Given the description of an element on the screen output the (x, y) to click on. 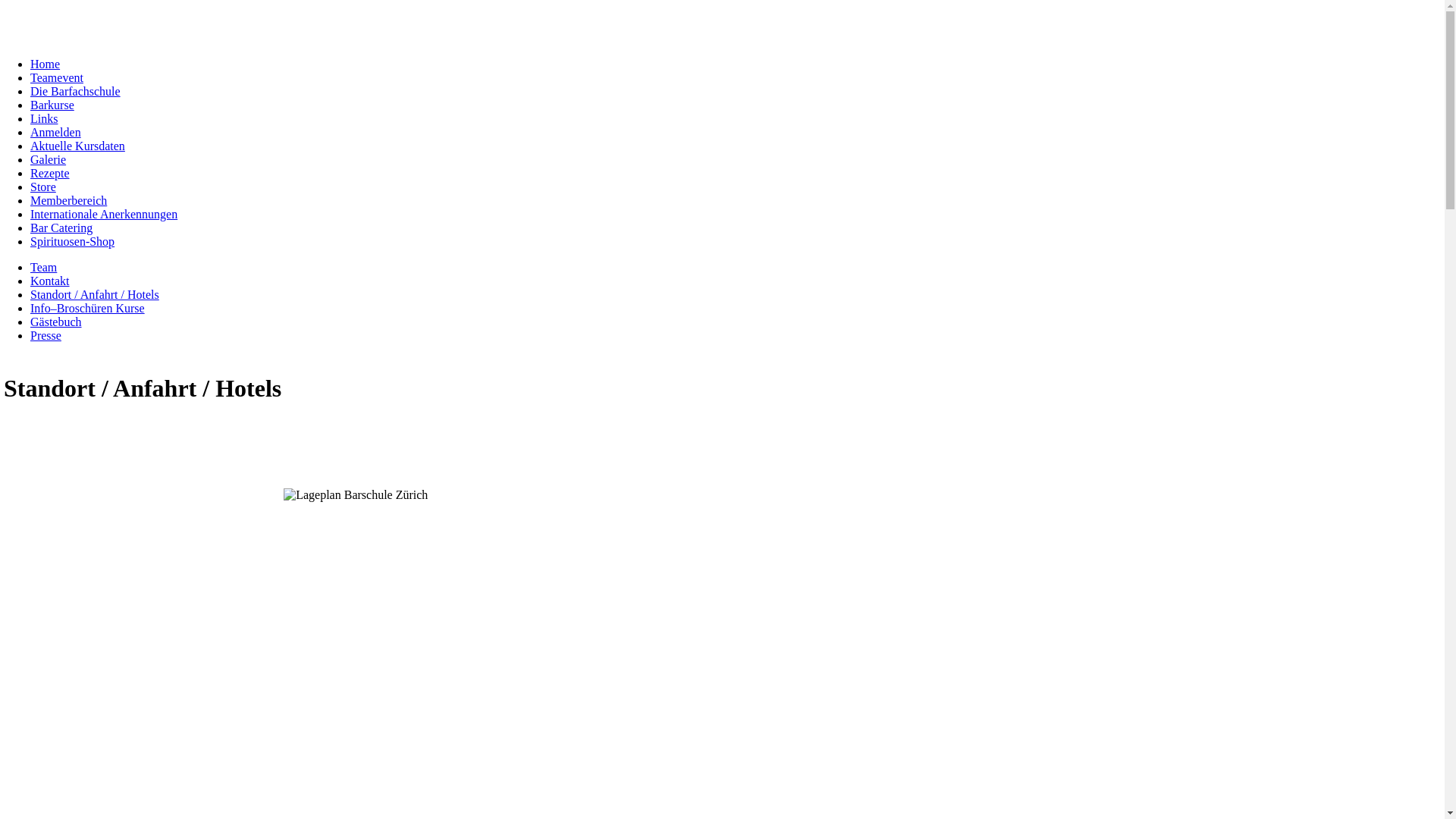
Home Element type: text (44, 63)
Store Element type: text (43, 186)
Anmelden Element type: text (55, 131)
Bar Catering Element type: text (61, 227)
Aktuelle Kursdaten Element type: text (77, 145)
Rezepte Element type: text (49, 172)
Standort / Anfahrt / Hotels Element type: text (94, 294)
Kontakt Element type: text (49, 280)
Galerie Element type: text (47, 159)
Spirituosen-Shop Element type: text (72, 241)
Teamevent Element type: text (56, 77)
Die Barfachschule Element type: text (75, 90)
Barkurse Element type: text (52, 104)
Internationale Anerkennungen Element type: text (103, 213)
Memberbereich Element type: text (68, 200)
Links Element type: text (43, 118)
Team Element type: text (43, 266)
Presse Element type: text (45, 335)
